Given the description of an element on the screen output the (x, y) to click on. 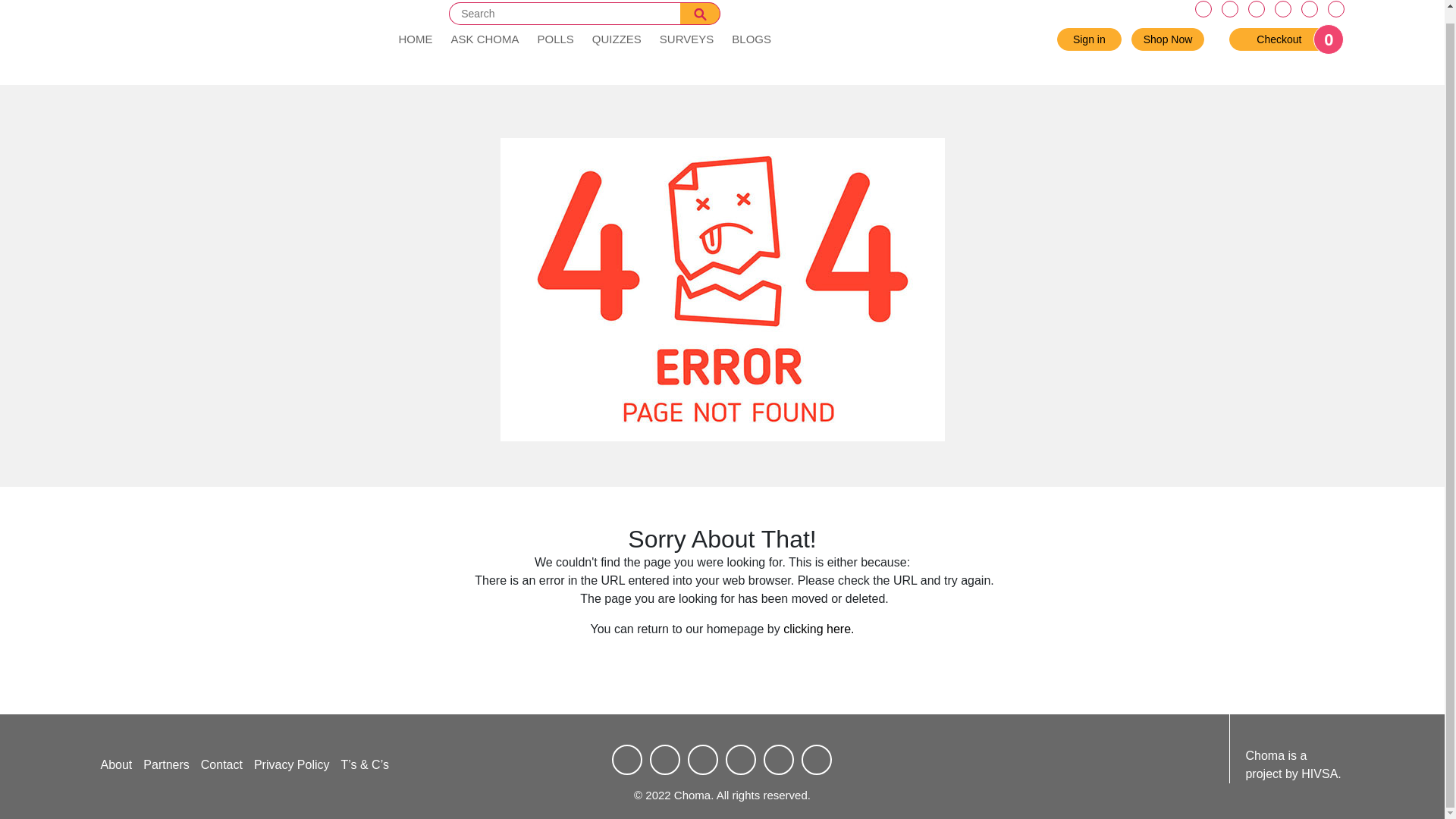
Sign in (1089, 38)
ASK CHOMA (484, 39)
QUIZZES (1277, 38)
Shop Now (616, 39)
Quizzes (1168, 38)
Surveys (616, 39)
Blogs (686, 39)
POLLS (751, 39)
BLOGS (554, 39)
